Given the description of an element on the screen output the (x, y) to click on. 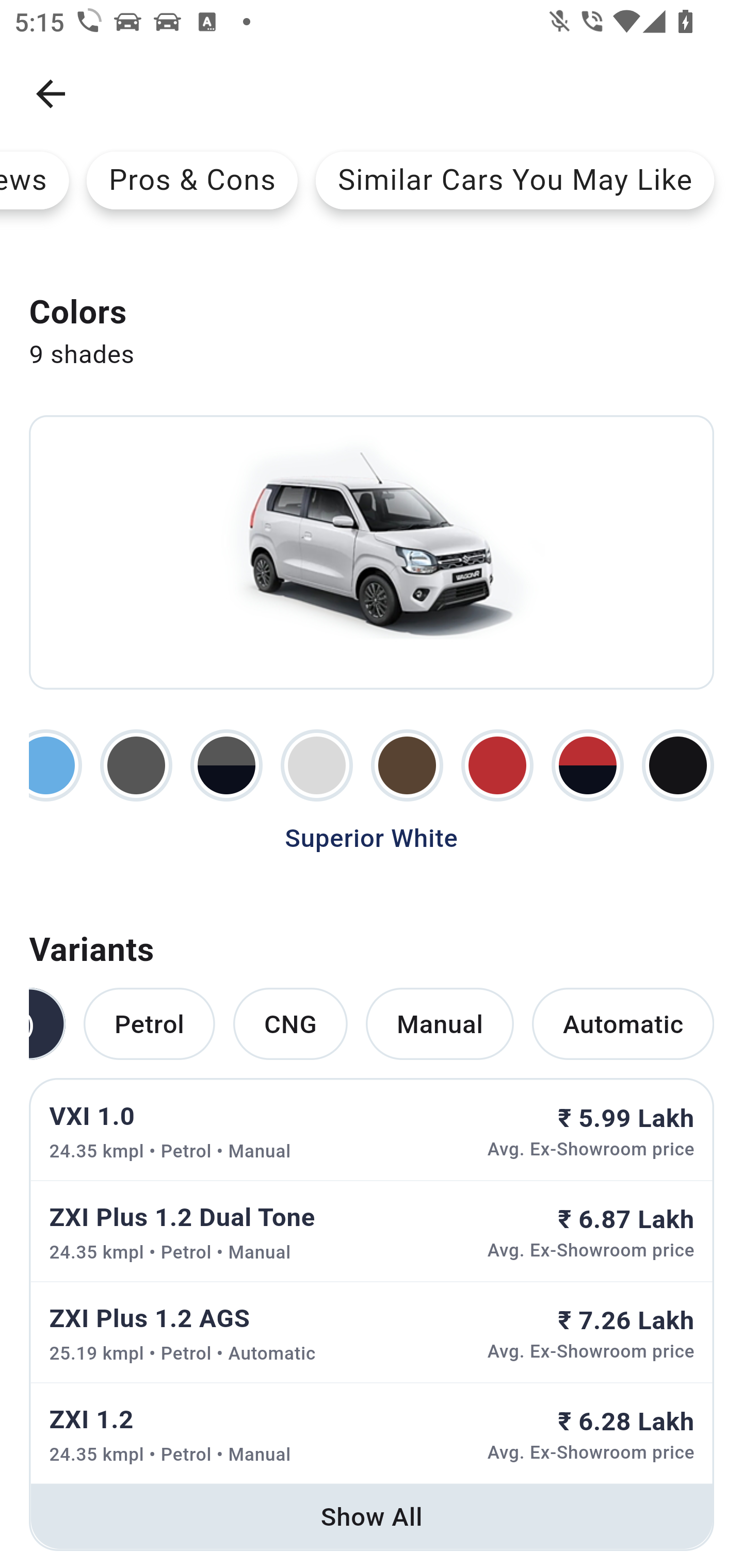
Back (50, 93)
Pros & Cons (191, 180)
Similar Cars You May Like (514, 180)
Petrol (149, 1023)
CNG (290, 1023)
Manual (439, 1023)
Automatic (622, 1023)
Show All (371, 1516)
